Given the description of an element on the screen output the (x, y) to click on. 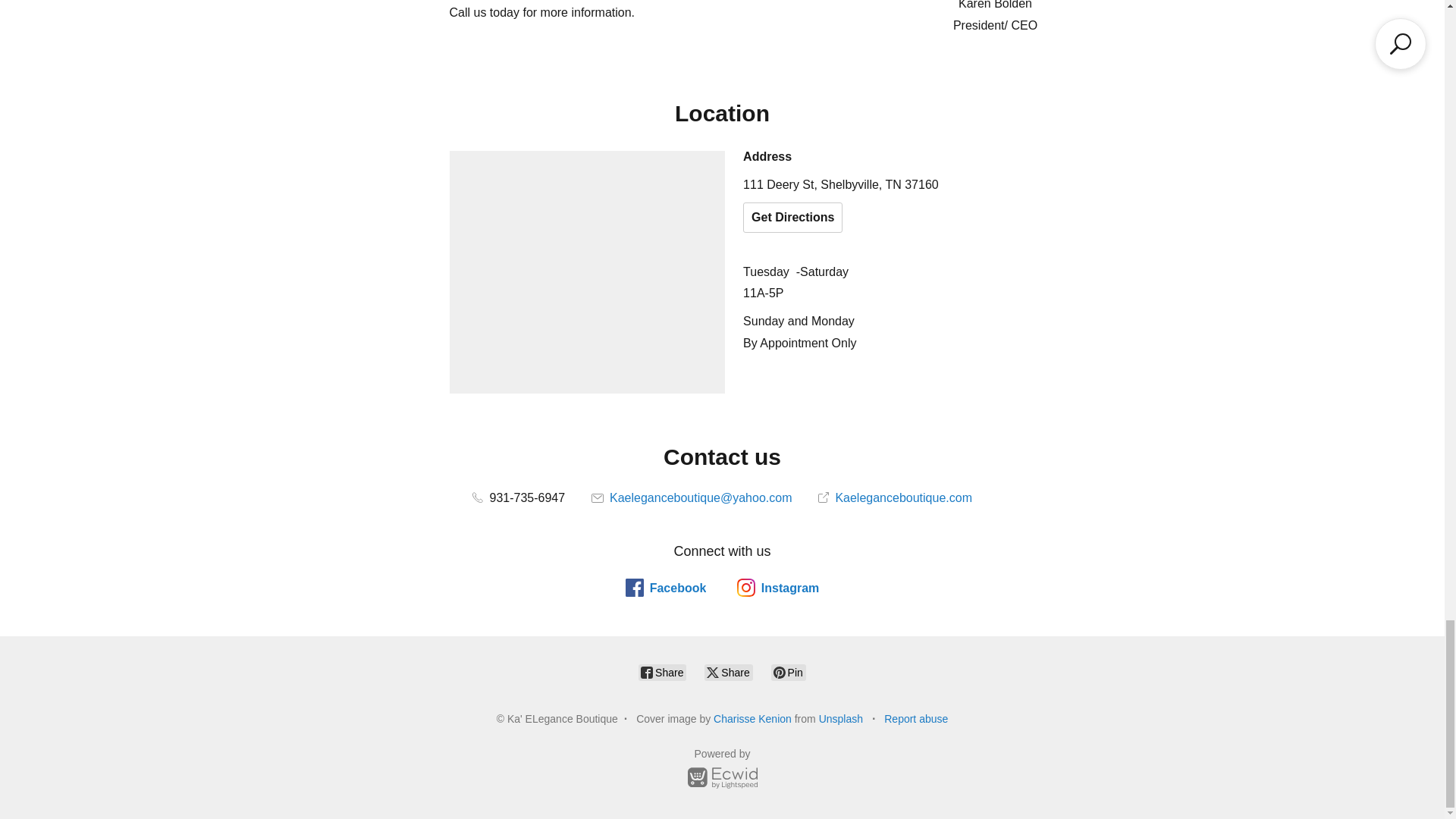
Location on map (586, 271)
